Given the description of an element on the screen output the (x, y) to click on. 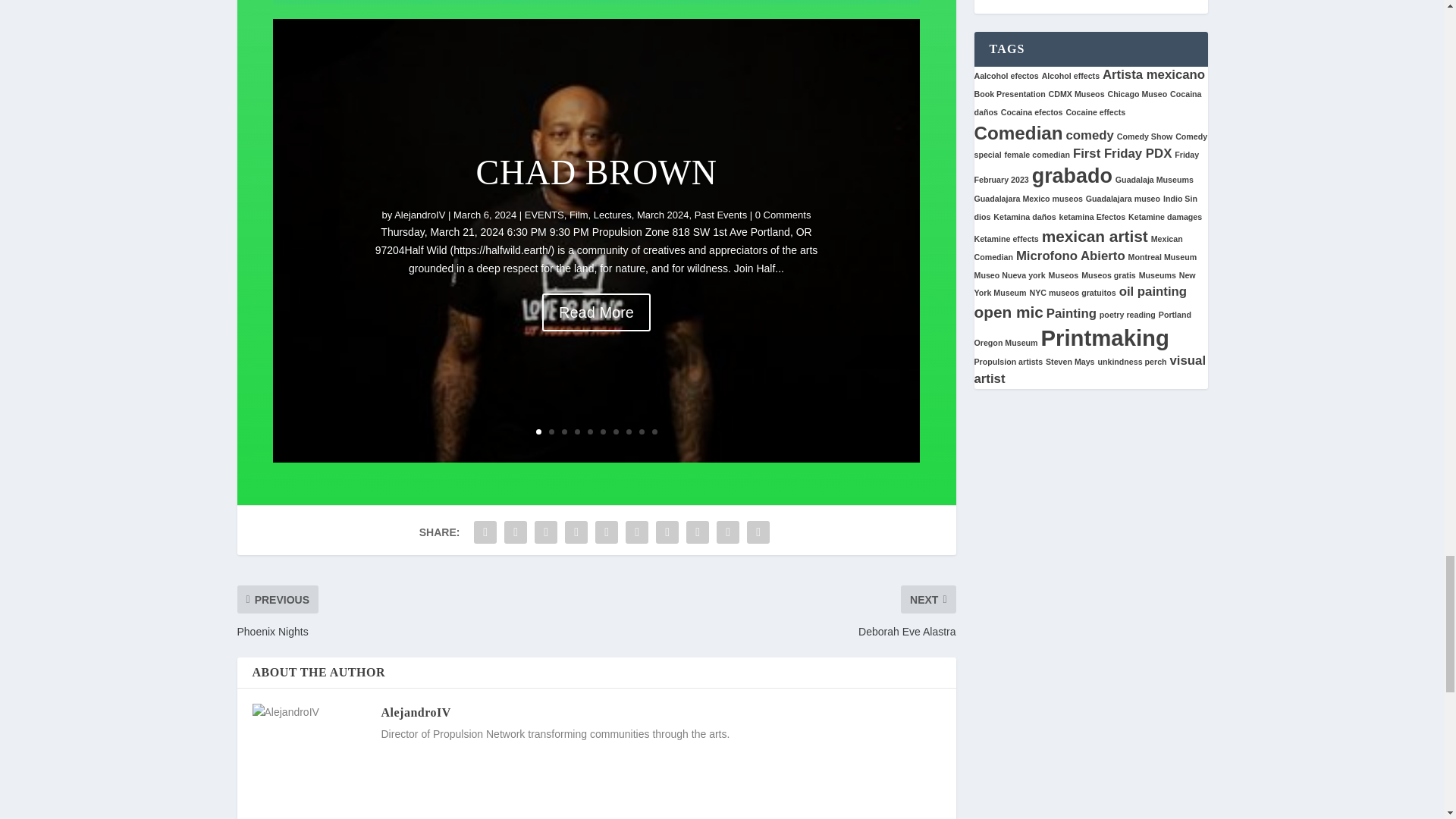
CHAD BROWN (596, 204)
Lectures (612, 241)
Posts by AlejandroIV (419, 214)
Film (578, 243)
EVENTS (544, 244)
AlejandroIV (419, 245)
